Given the description of an element on the screen output the (x, y) to click on. 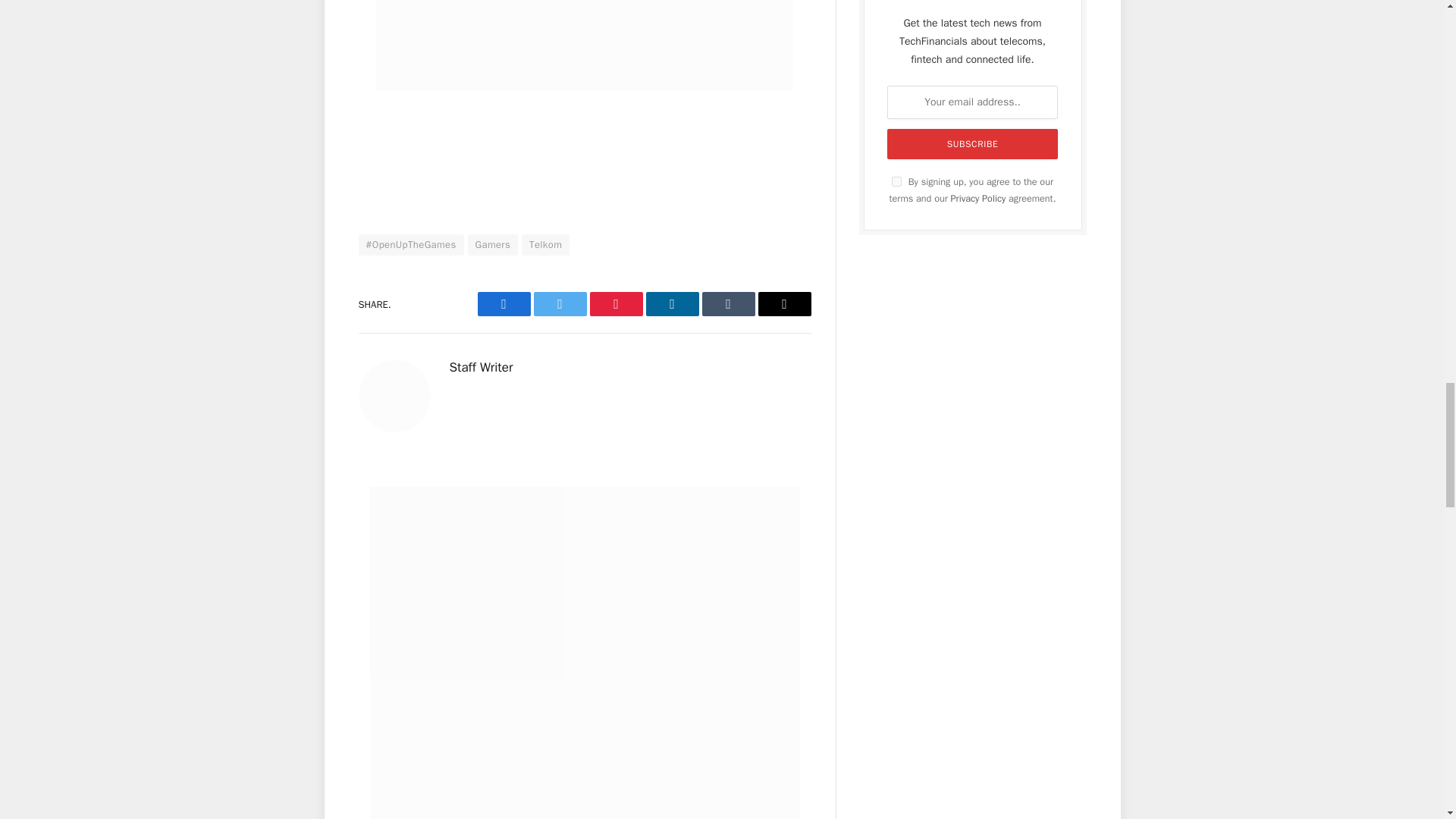
on (896, 181)
Subscribe (972, 143)
